Given the description of an element on the screen output the (x, y) to click on. 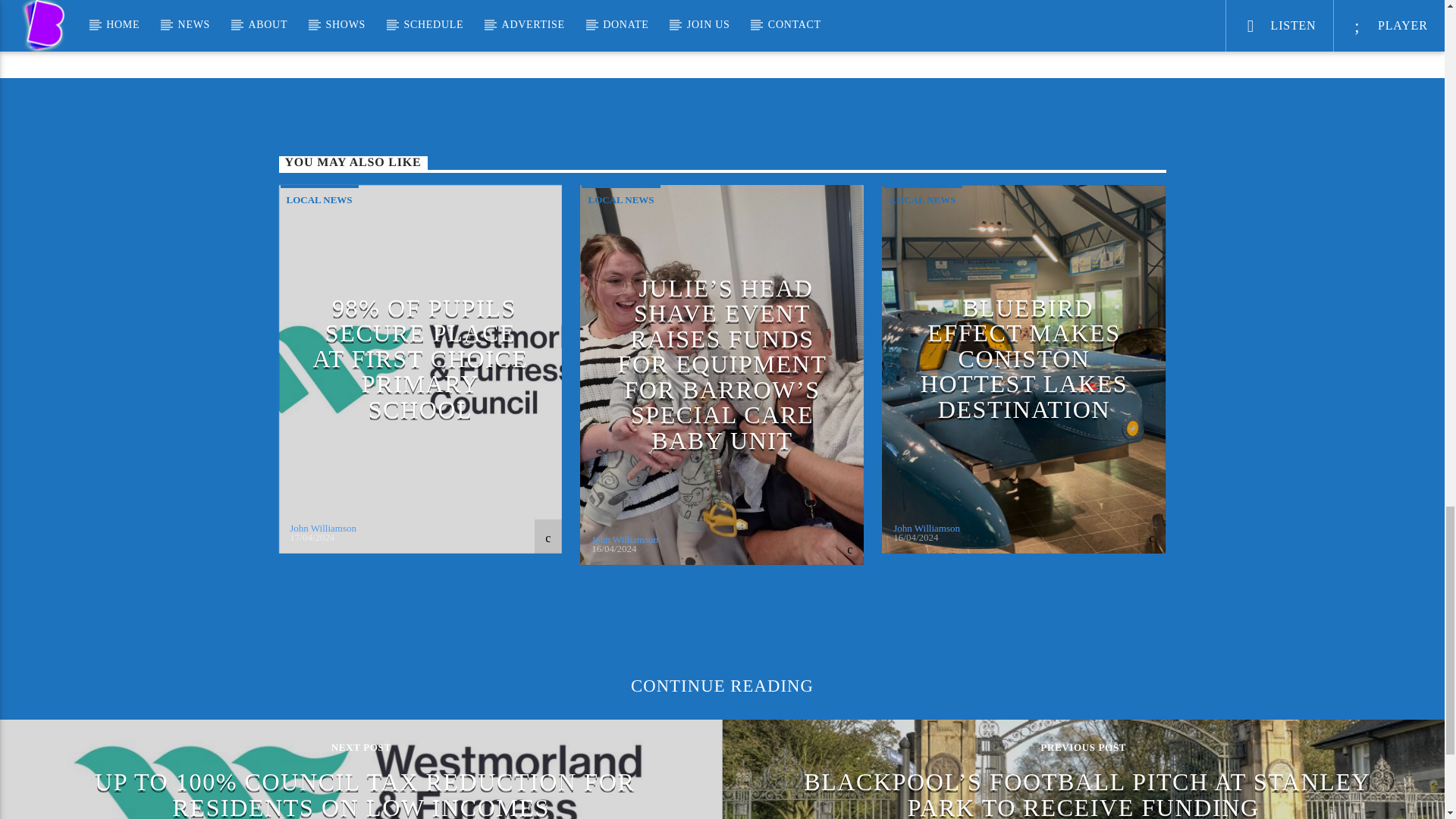
Posts by John Williamson (624, 539)
Posts by John Williamson (322, 527)
Posts by John Williamson (926, 527)
